Given the description of an element on the screen output the (x, y) to click on. 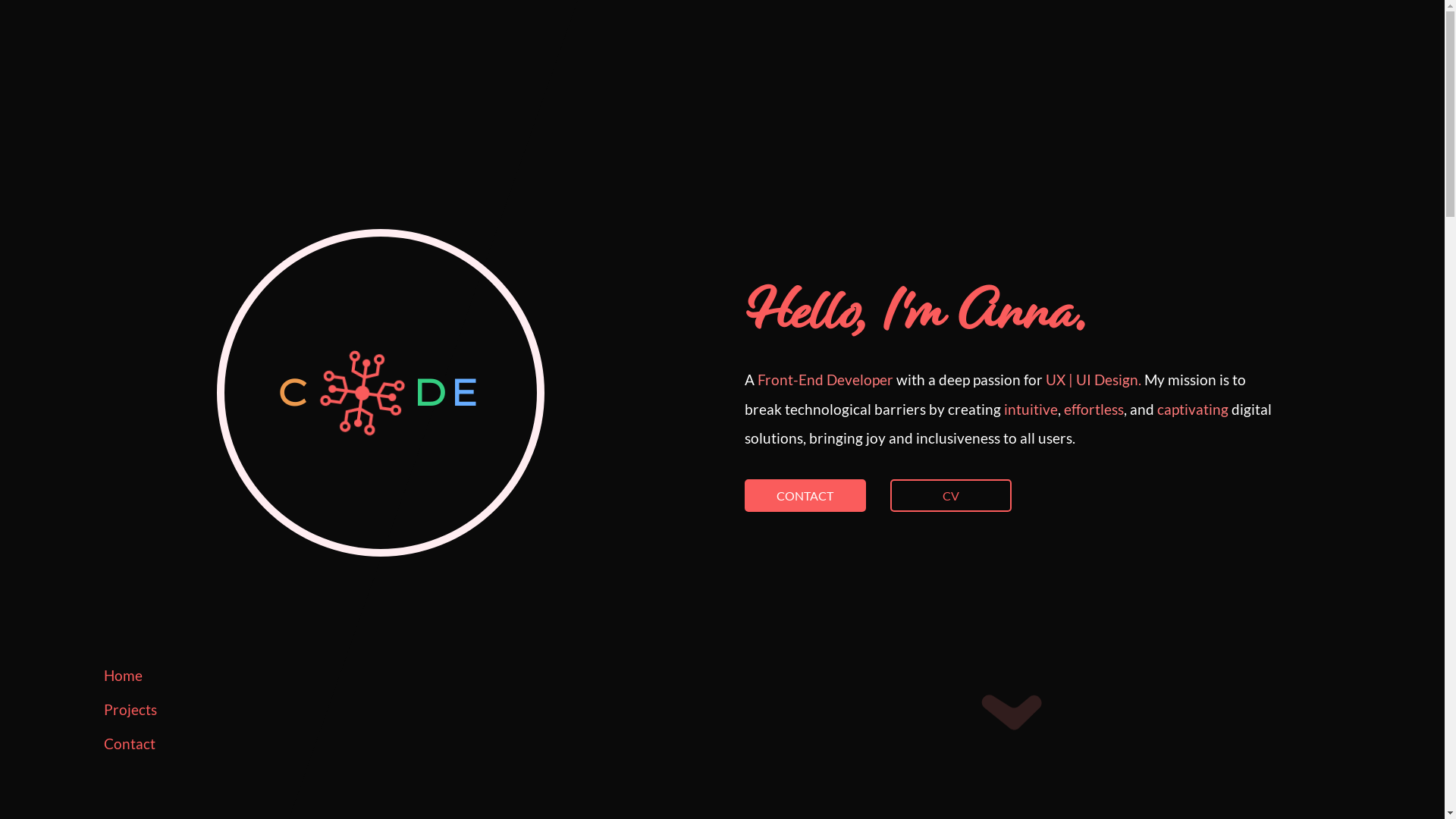
CV Element type: text (950, 495)
CONTACT Element type: text (805, 495)
Projects Element type: text (129, 709)
Home Element type: text (129, 675)
Contact Element type: text (129, 743)
